Given the description of an element on the screen output the (x, y) to click on. 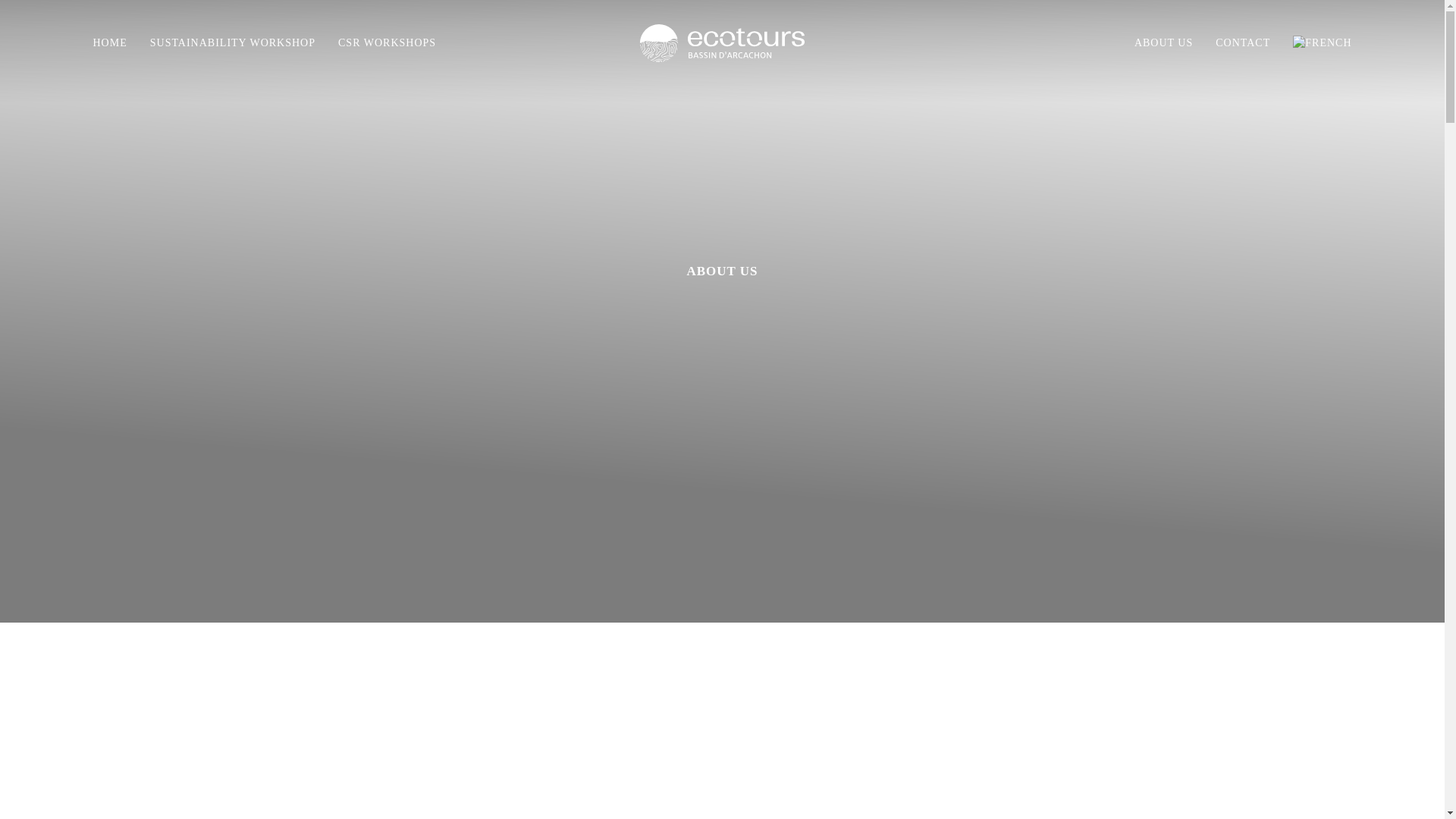
CSR WORKSHOPS (386, 43)
SUSTAINABILITY WORKSHOP (232, 43)
HOME (115, 43)
CONTACT (1242, 43)
ABOUT US (1163, 43)
